Given the description of an element on the screen output the (x, y) to click on. 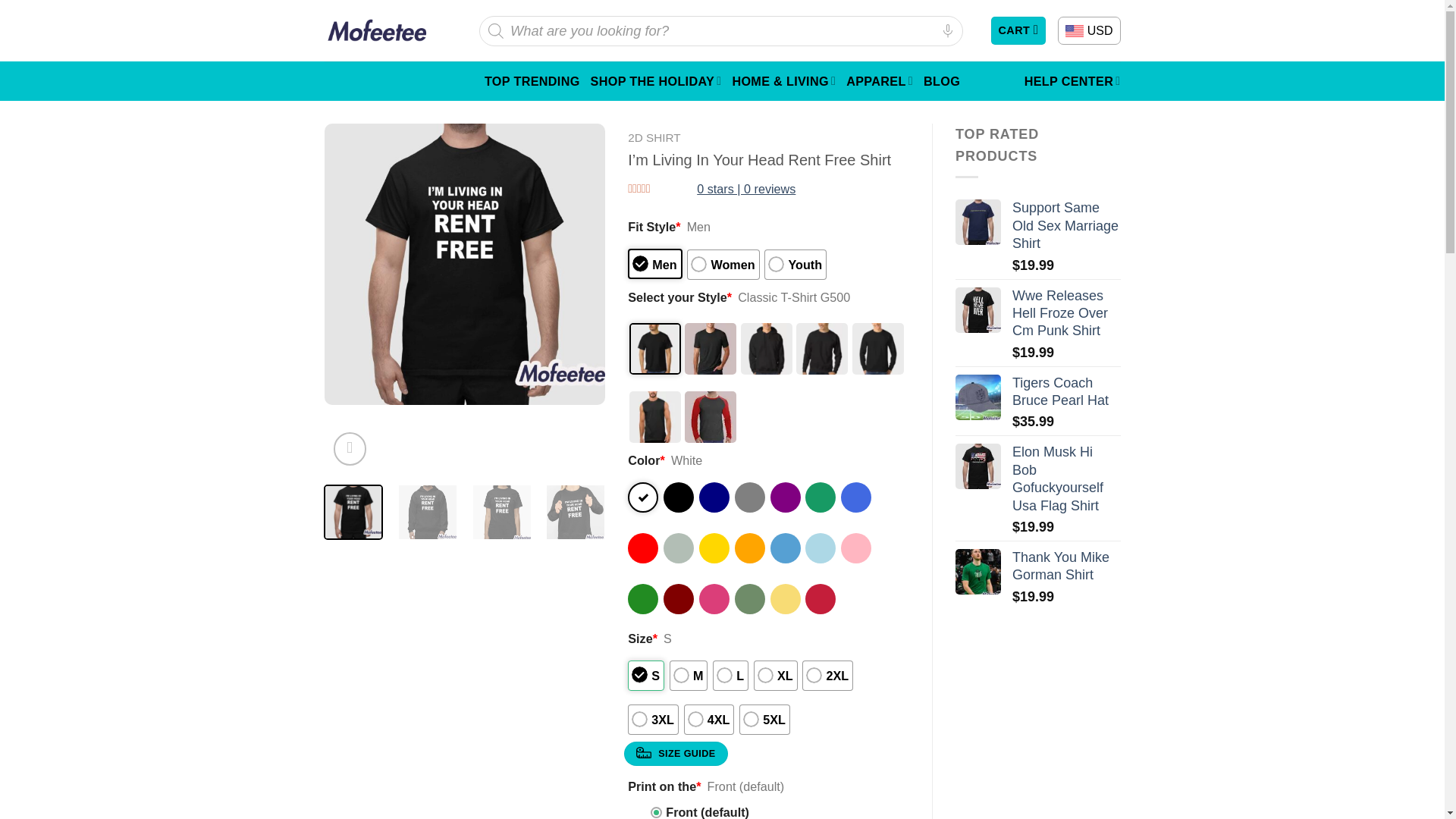
Thank You Mike Gorman Shirt (1066, 566)
Tigers Coach Bruce Pearl Hat (1066, 392)
Wwe Releases Hell Froze Over Cm Punk Shirt (978, 309)
Wwe Releases Hell Froze Over Cm Punk Shirt (1066, 313)
TOP TRENDING (531, 80)
Support Same Old Sex Marriage Shirt (978, 221)
Support Same Old Sex Marriage Shirt (1066, 225)
Thank You Mike Gorman Shirt (978, 571)
Mofeetee - Unique Apparel and Accessories Essentials (376, 30)
BLOG (941, 80)
Elon Musk Hi Bob Gofuckyourself Usa Flag Shirt (978, 465)
CART (1018, 30)
Elon Musk Hi Bob Gofuckyourself Usa Flag Shirt (1066, 479)
Tigers Coach Bruce Pearl Hat (978, 397)
SHOP THE HOLIDAY (656, 80)
